Given the description of an element on the screen output the (x, y) to click on. 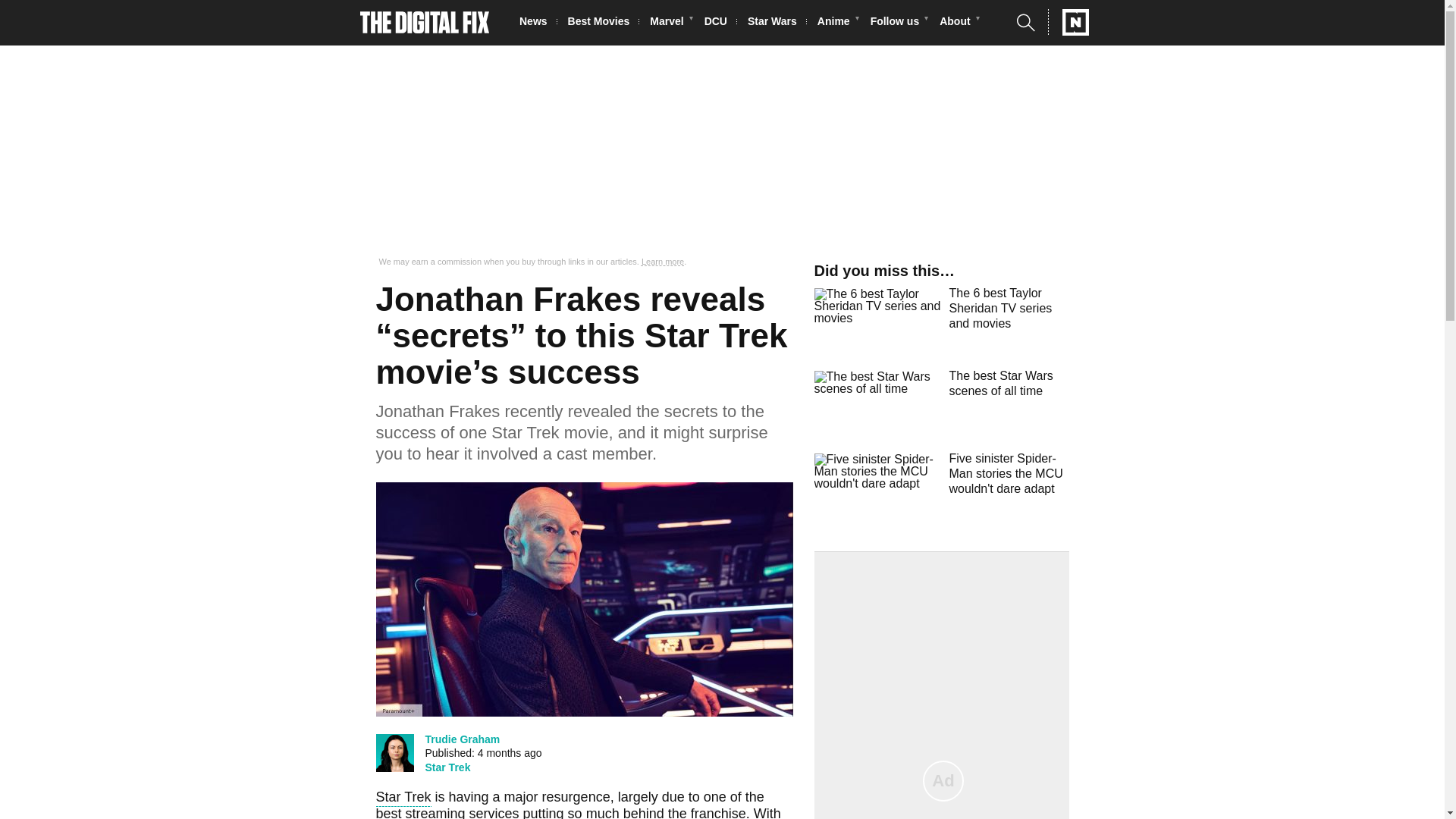
Anime (837, 22)
Marvel (671, 22)
best streaming services (447, 812)
Network N Media (1068, 22)
Star Trek (447, 767)
Trudie Graham (462, 739)
Marvel Cinematic Universe News (671, 22)
Learn more (663, 261)
Star Wars News (777, 22)
Best Movies (603, 22)
